Given the description of an element on the screen output the (x, y) to click on. 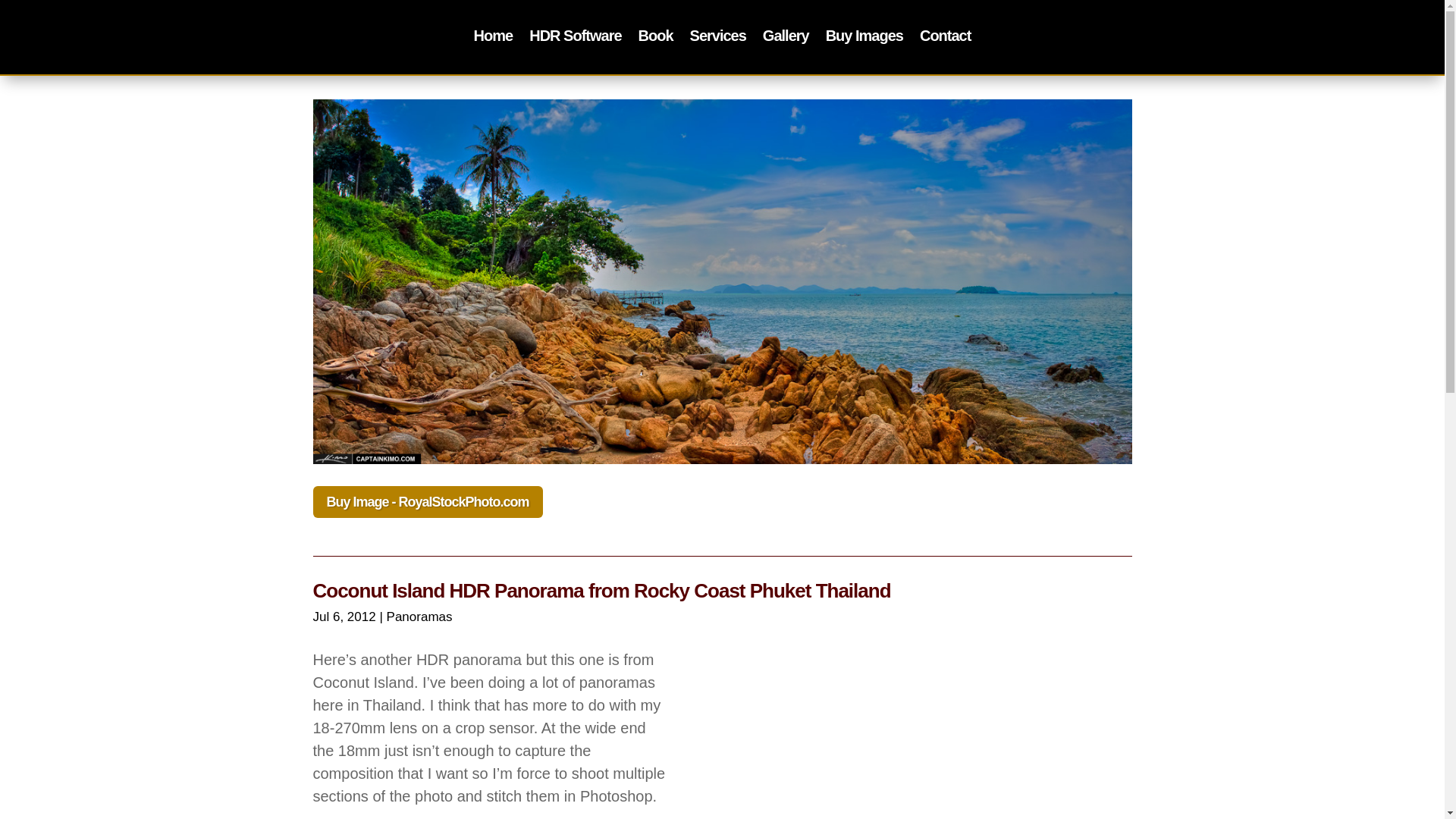
Home (493, 38)
Services (717, 38)
Gallery (785, 38)
Book (655, 38)
Buy Images (863, 38)
Buy Image - RoyalStockPhoto.com (427, 501)
Contact (945, 38)
HDR Software (575, 38)
Buy Captain Kimo Images (863, 38)
Panoramas (419, 616)
